Given the description of an element on the screen output the (x, y) to click on. 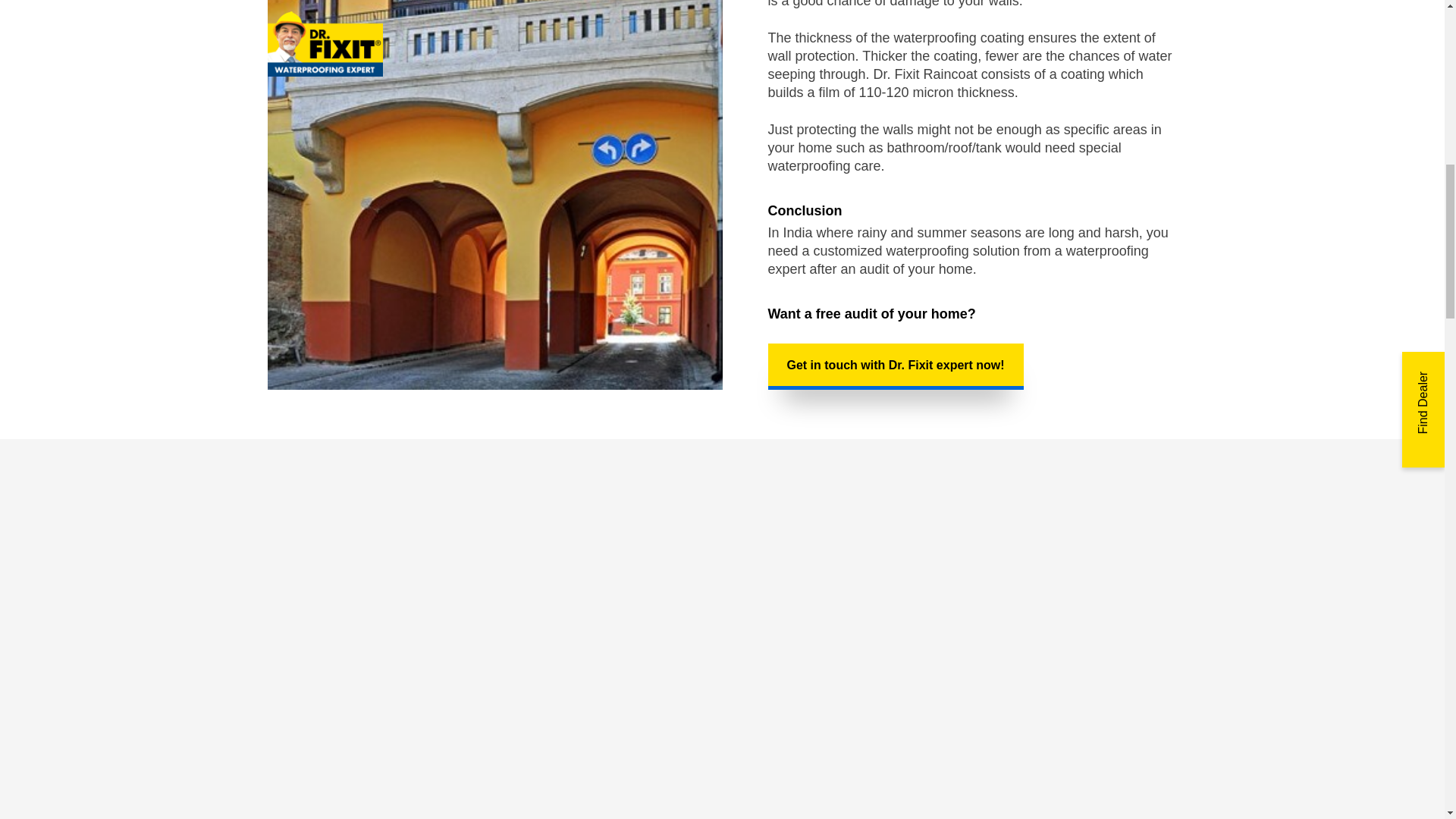
Get in touch with Dr. Fixit expert now! (895, 366)
